Given the description of an element on the screen output the (x, y) to click on. 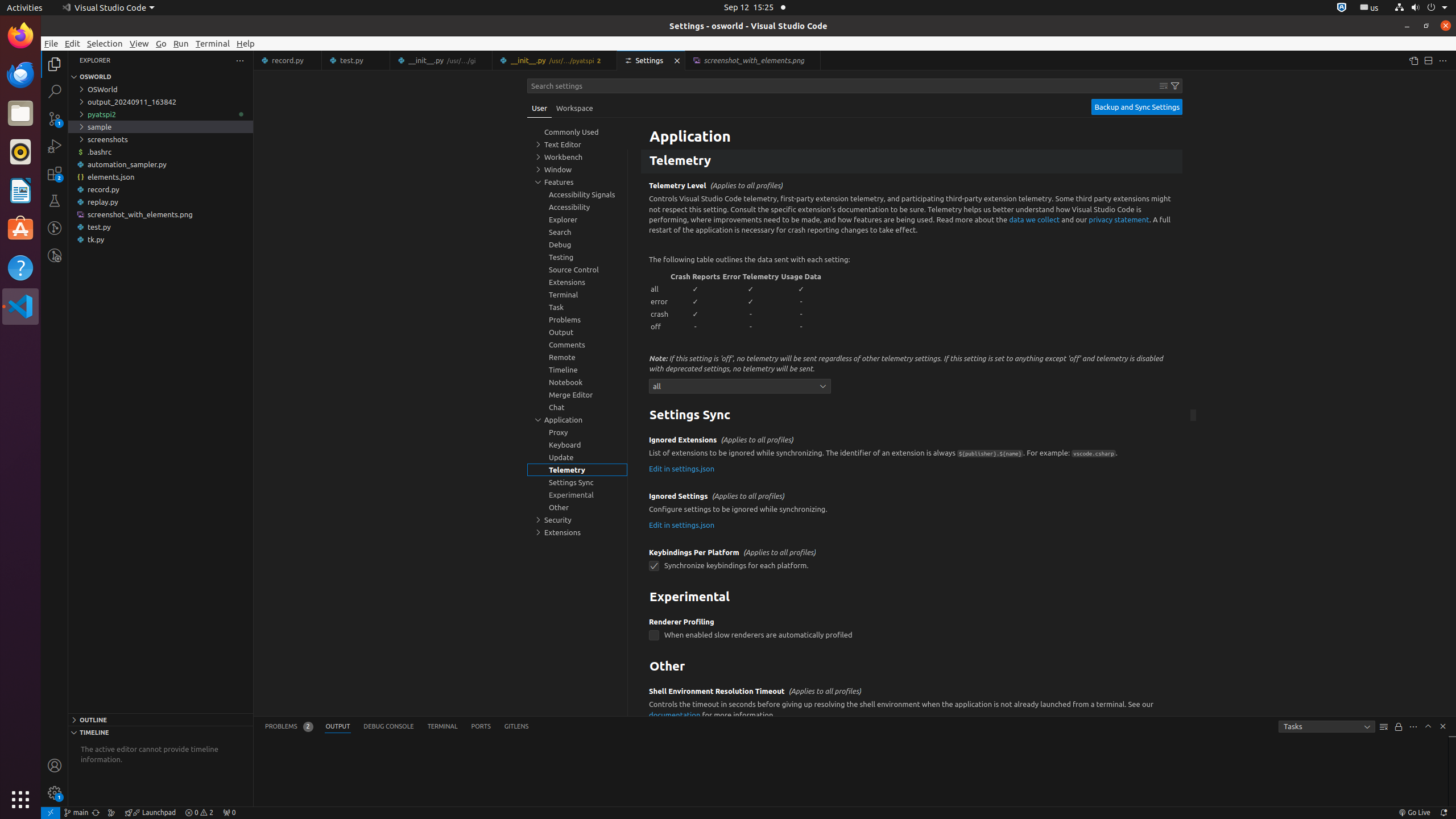
Notifications Element type: push-button (1443, 812)
Firefox Web Browser Element type: push-button (20, 35)
Telemetry, group Element type: tree-item (577, 469)
off Element type: table-cell (659, 326)
